Given the description of an element on the screen output the (x, y) to click on. 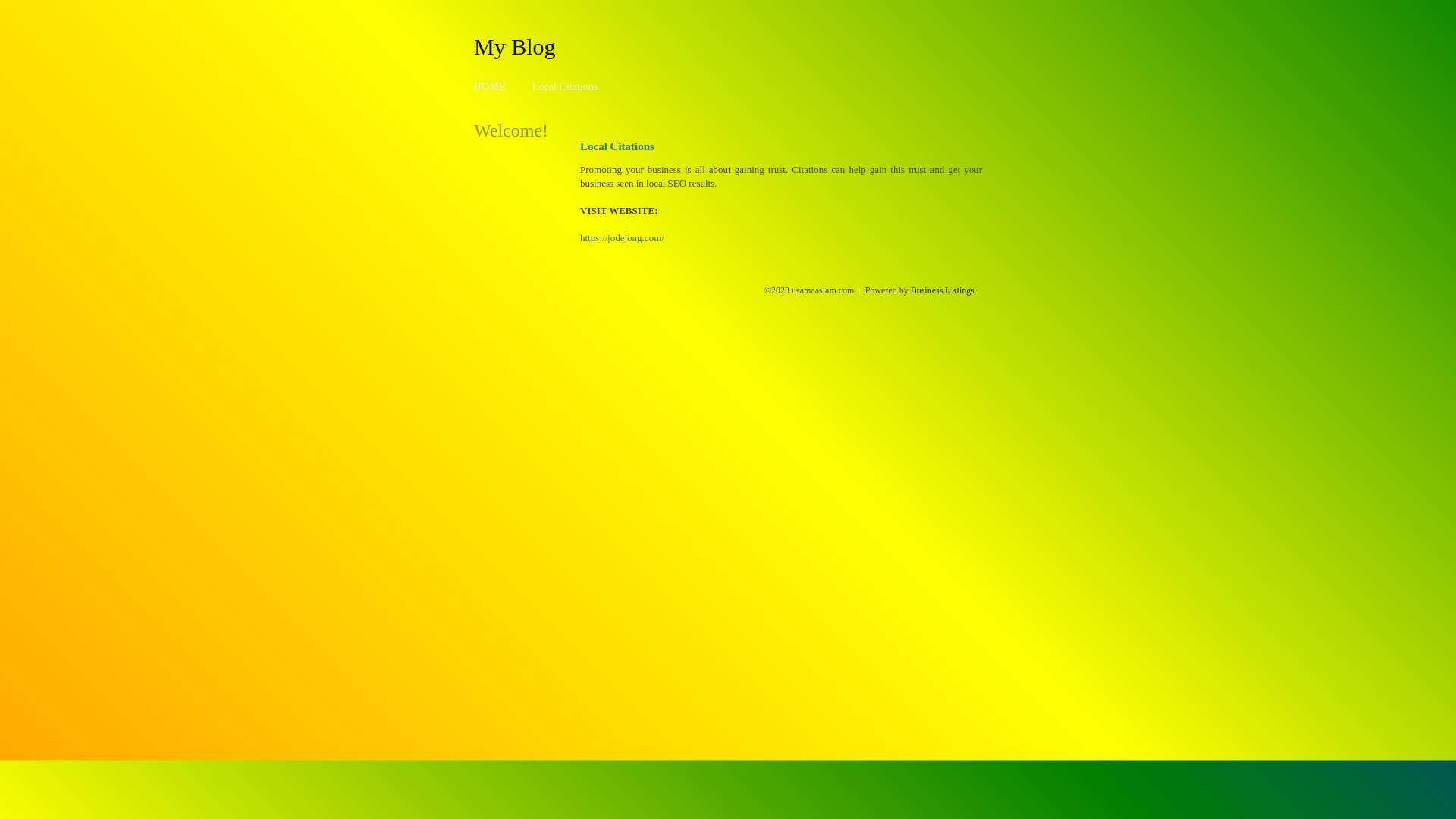
https://jodejong.com/ Element type: text (622, 237)
Local Citations Element type: text (564, 86)
My Blog Element type: text (514, 46)
HOME Element type: text (489, 86)
Business Listings Element type: text (942, 290)
